Given the description of an element on the screen output the (x, y) to click on. 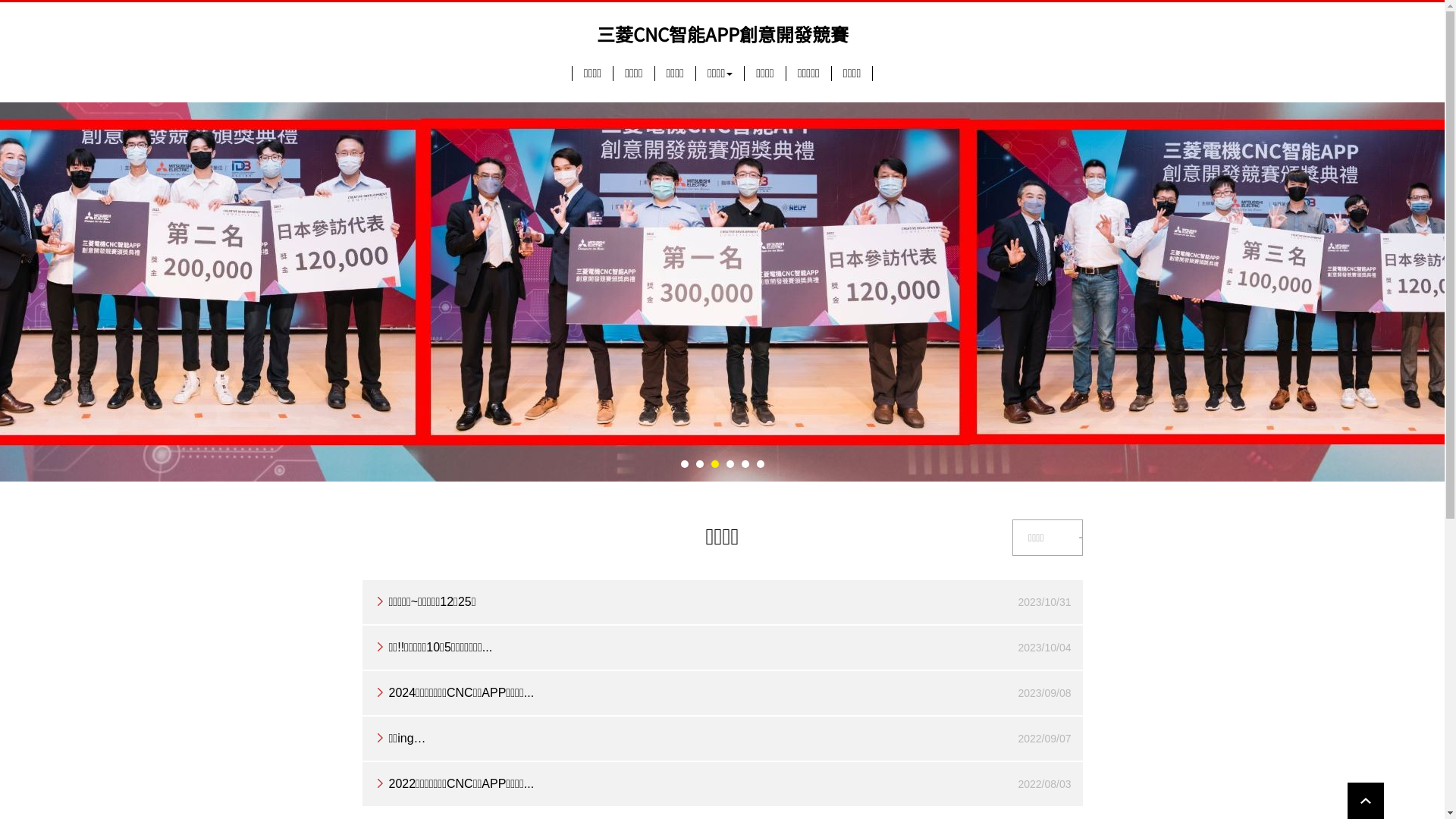
6 Element type: text (760, 463)
3 Element type: text (714, 463)
4 Element type: text (730, 463)
1 Element type: text (684, 463)
2 Element type: text (699, 463)
5 Element type: text (745, 463)
